Given the description of an element on the screen output the (x, y) to click on. 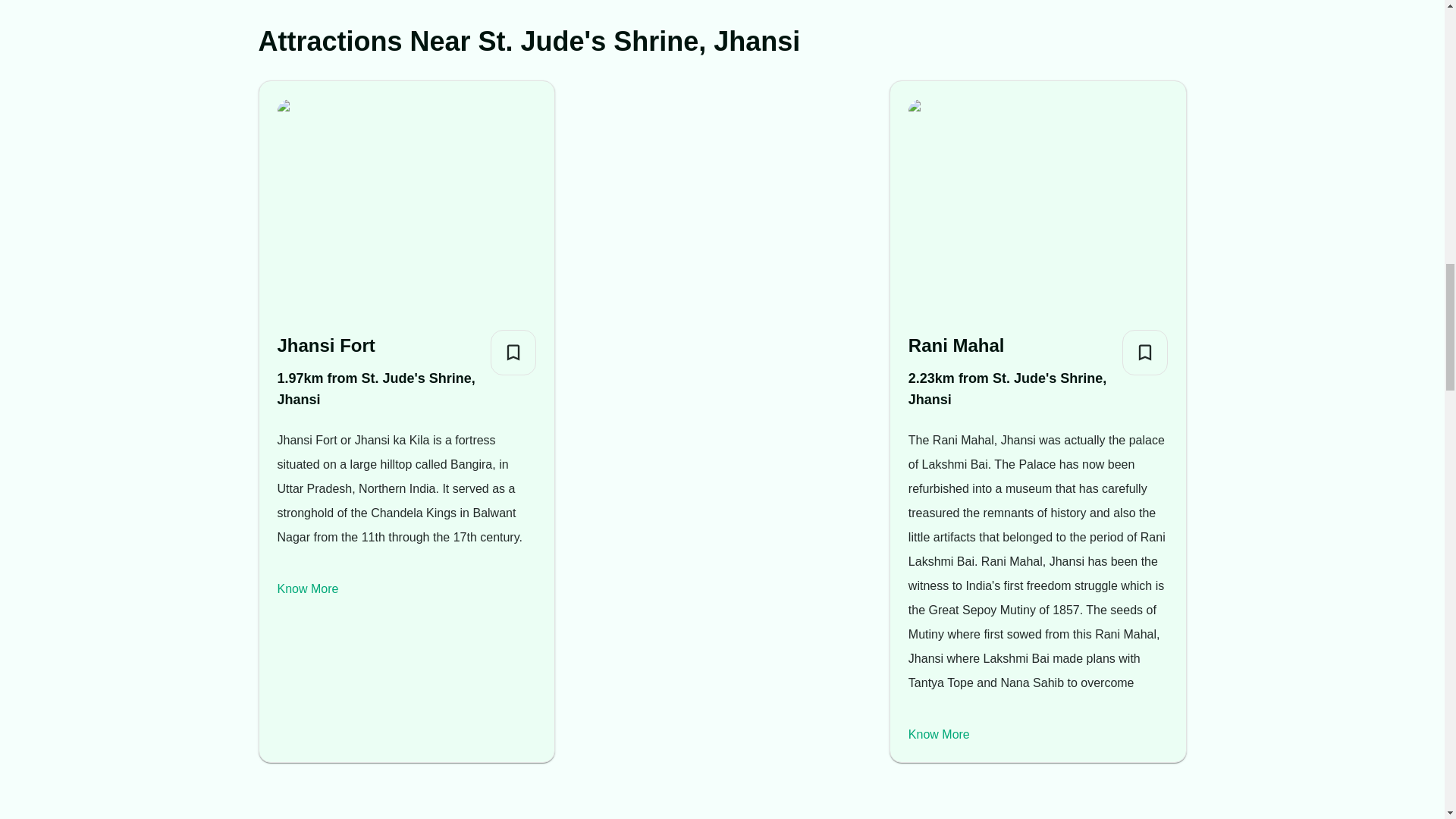
Know More (938, 734)
Add to Bucket List (1144, 352)
Rani Mahal (1008, 345)
Jhansi Fort (378, 345)
Add to Bucket List (512, 352)
Know More (308, 588)
